Given the description of an element on the screen output the (x, y) to click on. 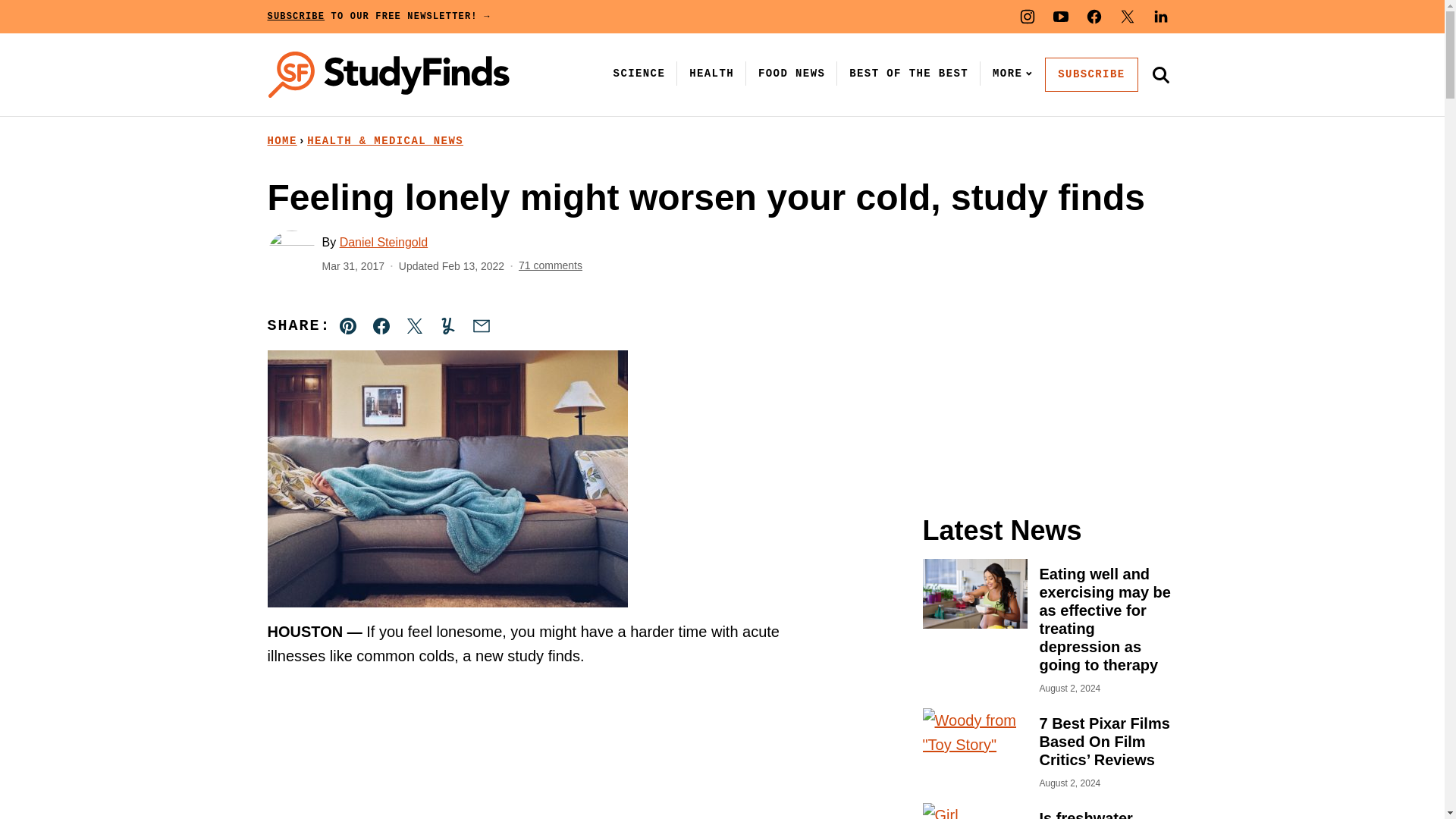
BEST OF THE BEST (908, 73)
FOOD NEWS (791, 73)
Share on Pinterest (348, 326)
Share on Twitter (413, 326)
Share via Email (480, 326)
Share on Yummly (447, 326)
HEALTH (711, 73)
Share on Facebook (381, 326)
SCIENCE (639, 73)
SUBSCRIBE (1091, 74)
MORE (1009, 73)
HOME (281, 141)
